Given the description of an element on the screen output the (x, y) to click on. 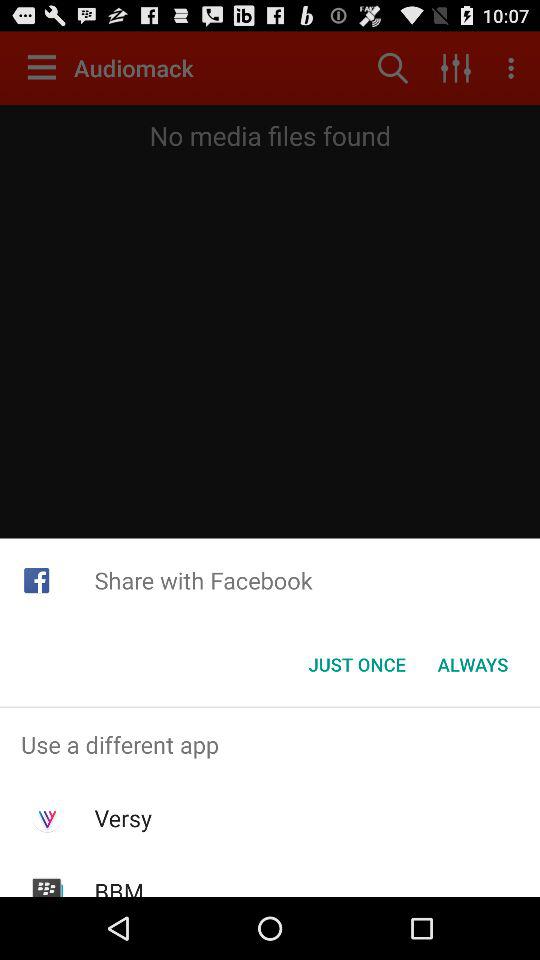
turn off icon to the right of the just once button (472, 664)
